Given the description of an element on the screen output the (x, y) to click on. 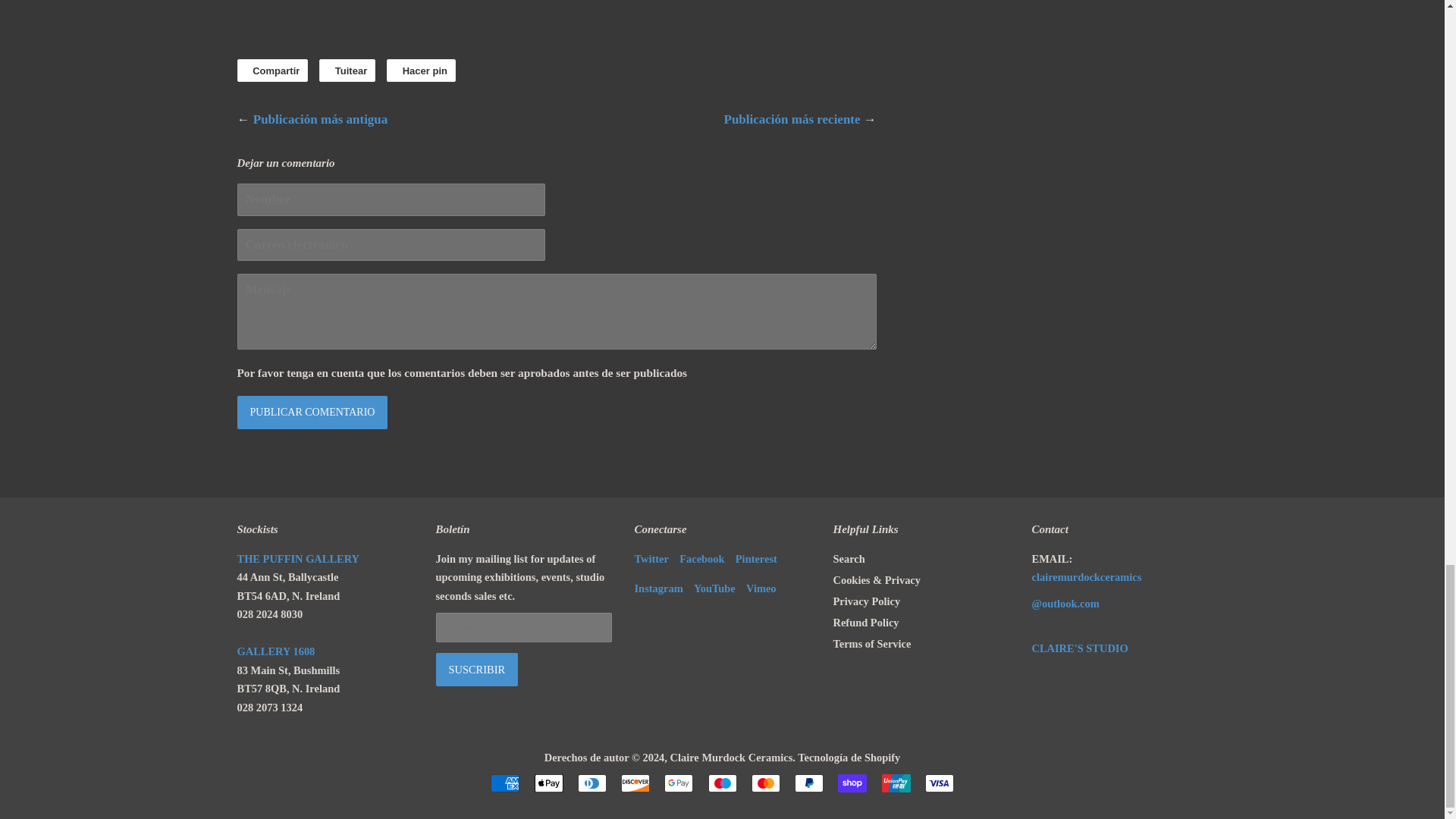
Publicar comentario (311, 412)
Diners Club (592, 782)
Suscribir (476, 669)
Union Pay (895, 782)
PayPal (809, 782)
Maestro (721, 782)
Google Pay (678, 782)
Discover (635, 782)
Shop Pay (852, 782)
American Express (504, 782)
